Given the description of an element on the screen output the (x, y) to click on. 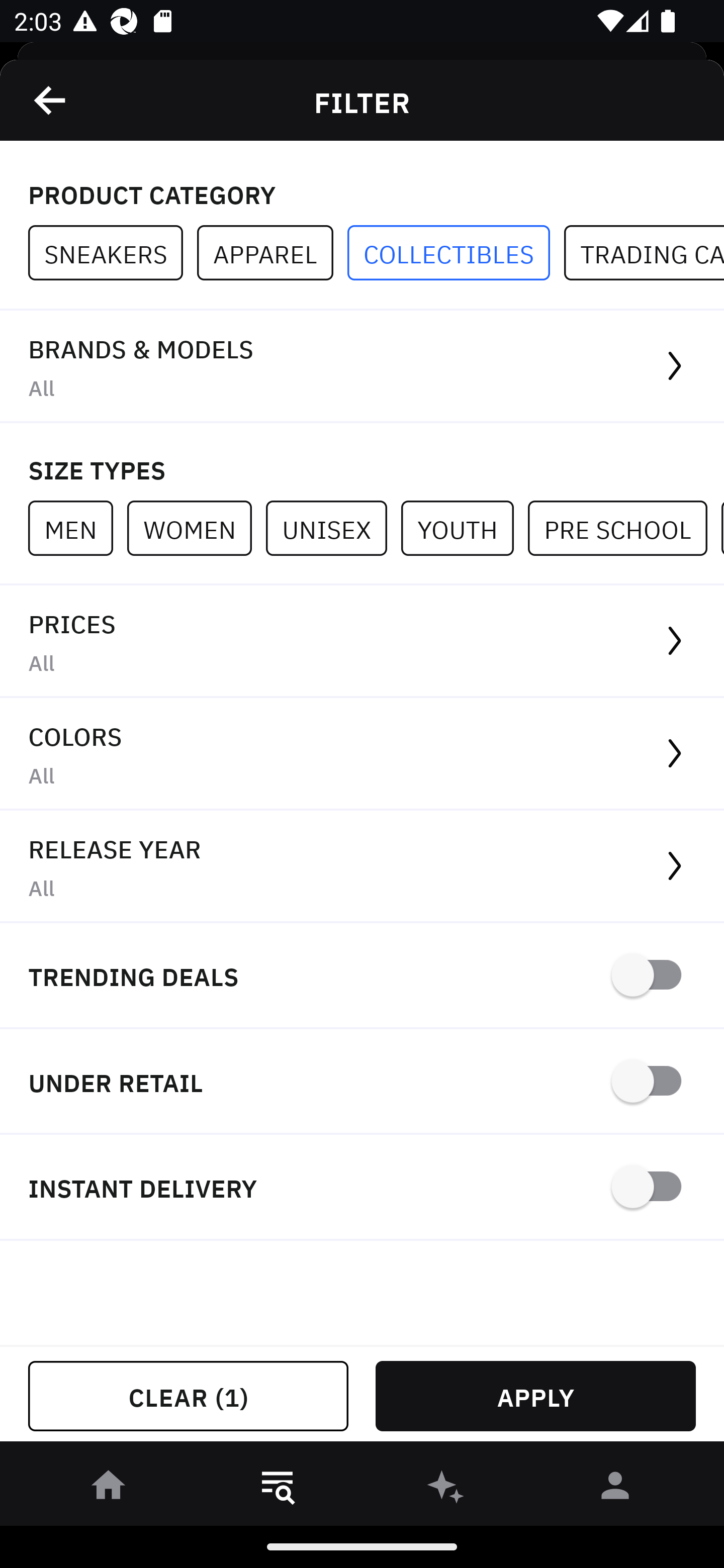
 (50, 100)
SNEAKERS (112, 252)
APPAREL (271, 252)
COLLECTIBLES (455, 252)
TRADING CARDS (643, 252)
BRANDS & MODELS All (362, 366)
MEN (77, 527)
WOMEN (196, 527)
UNISEX (333, 527)
YOUTH (464, 527)
PRE SCHOOL (624, 527)
PRICES All (362, 640)
COLORS All (362, 753)
RELEASE YEAR All (362, 866)
TRENDING DEALS (362, 975)
UNDER RETAIL (362, 1081)
INSTANT DELIVERY (362, 1187)
CLEAR (1) (188, 1396)
APPLY (535, 1396)
󰋜 (108, 1488)
󱎸 (277, 1488)
󰫢 (446, 1488)
󰀄 (615, 1488)
